Given the description of an element on the screen output the (x, y) to click on. 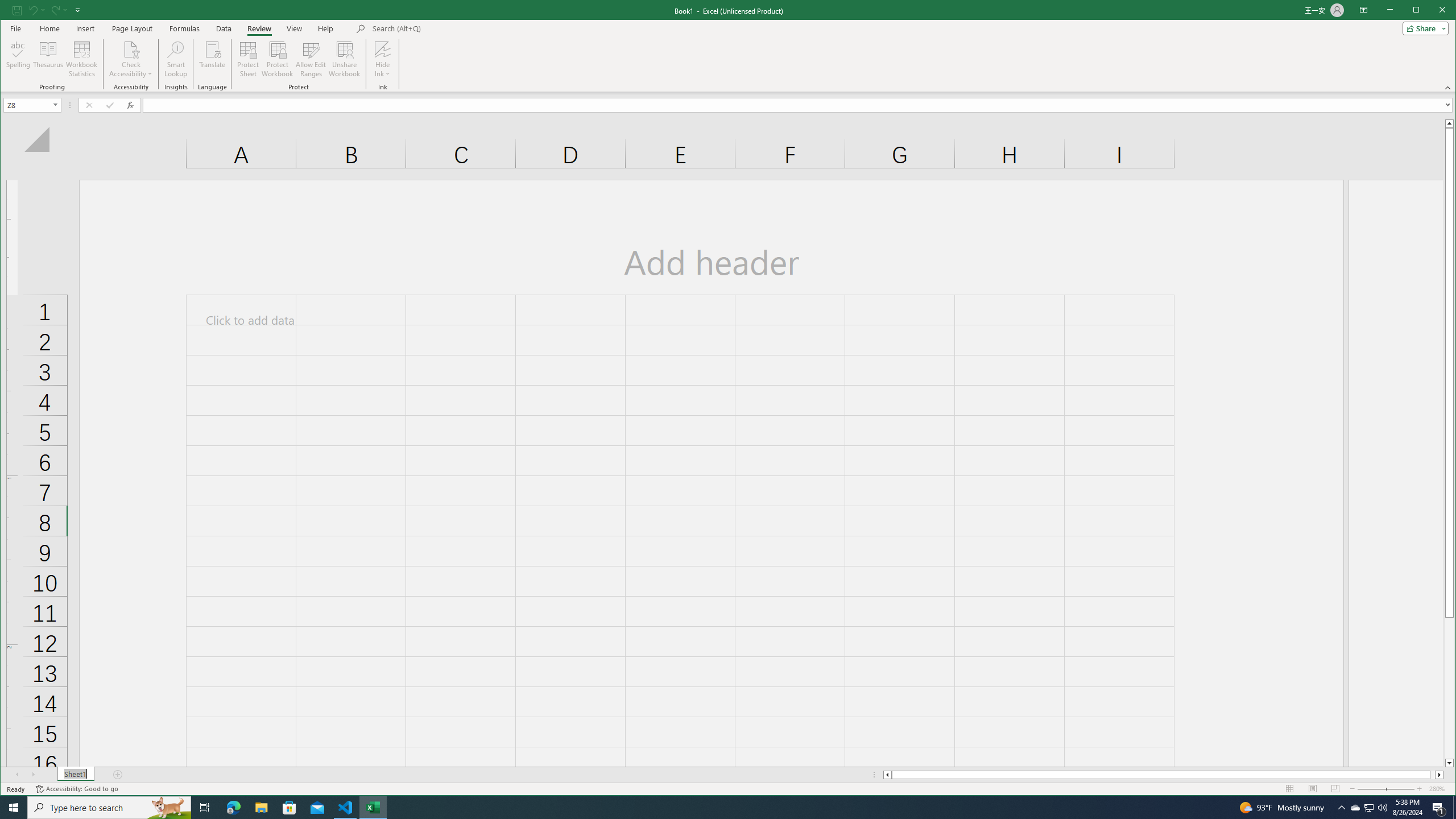
Microsoft search (451, 28)
Maximize (1432, 11)
File Explorer (1355, 807)
Check Accessibility (261, 807)
User Promoted Notification Area (130, 59)
Spelling... (1368, 807)
